Given the description of an element on the screen output the (x, y) to click on. 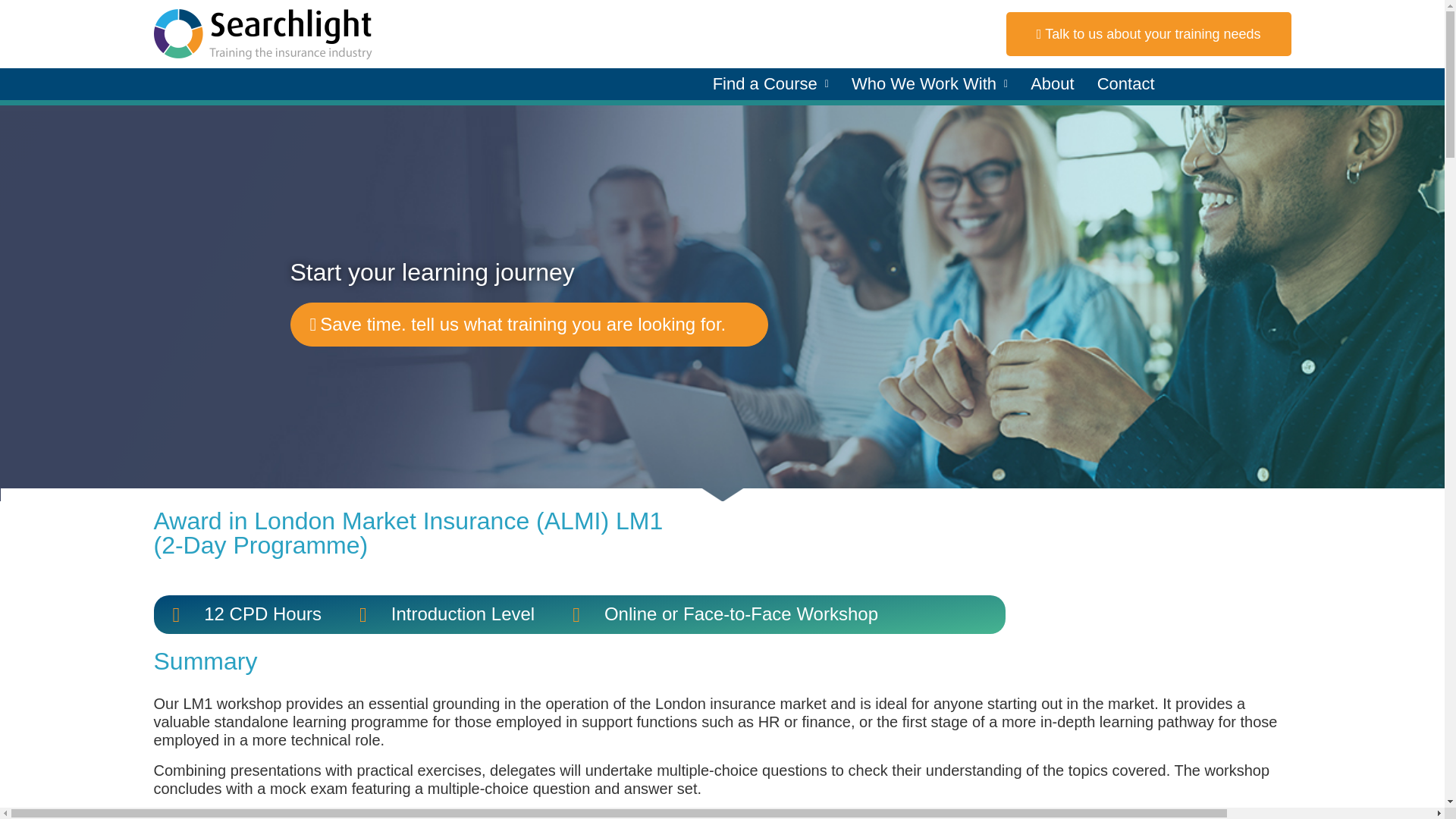
Find a Course (770, 84)
Save time. tell us what training you are looking for. (528, 324)
Contact (1125, 84)
About (1052, 84)
Who We Work With (929, 84)
Talk to us about your training needs (1148, 34)
